Given the description of an element on the screen output the (x, y) to click on. 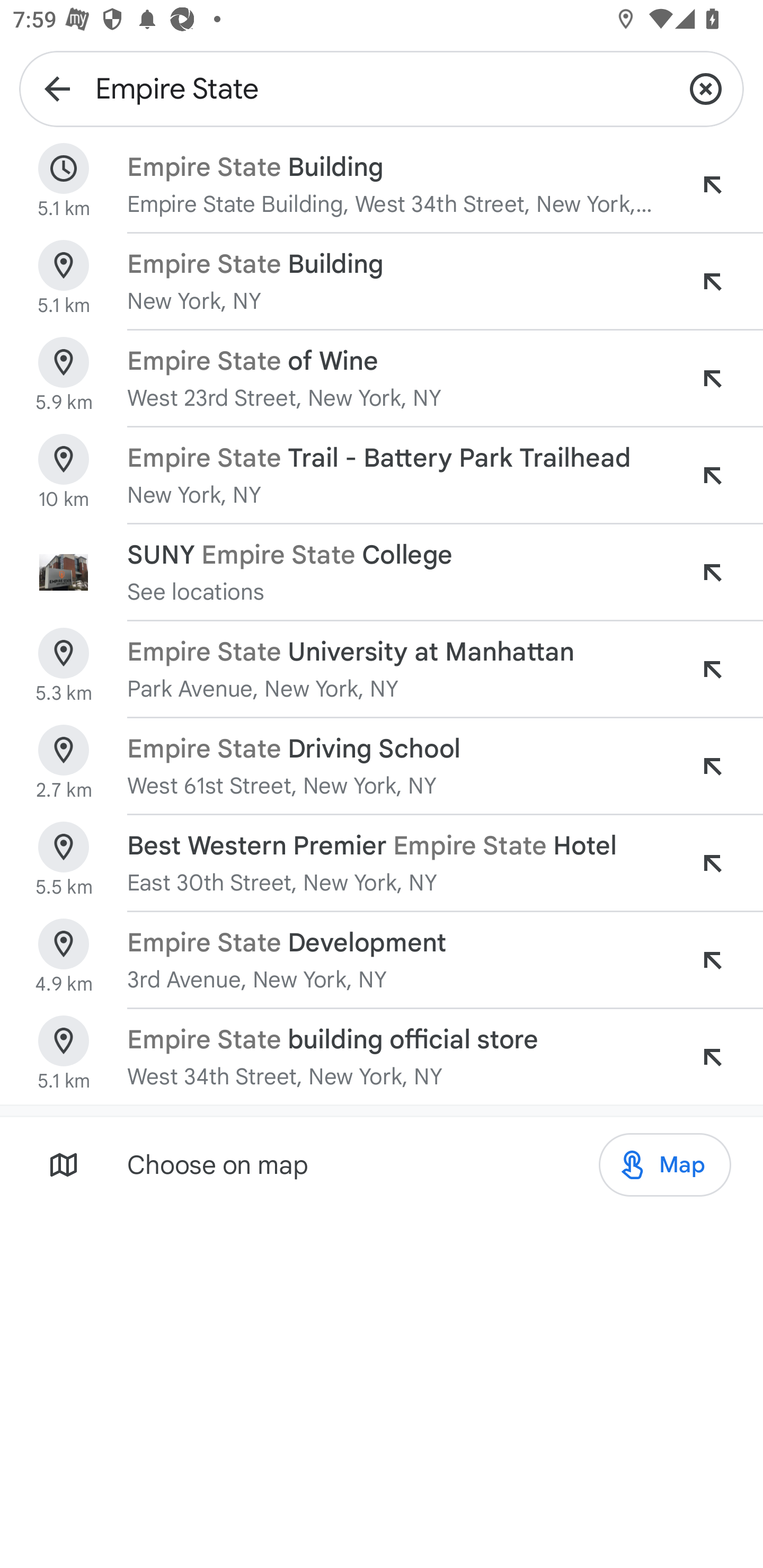
Navigate up (57, 88)
Empire State (381, 88)
Clear (705, 88)
Choose on map Map Map Map (381, 1164)
Map Map Map (664, 1164)
